Given the description of an element on the screen output the (x, y) to click on. 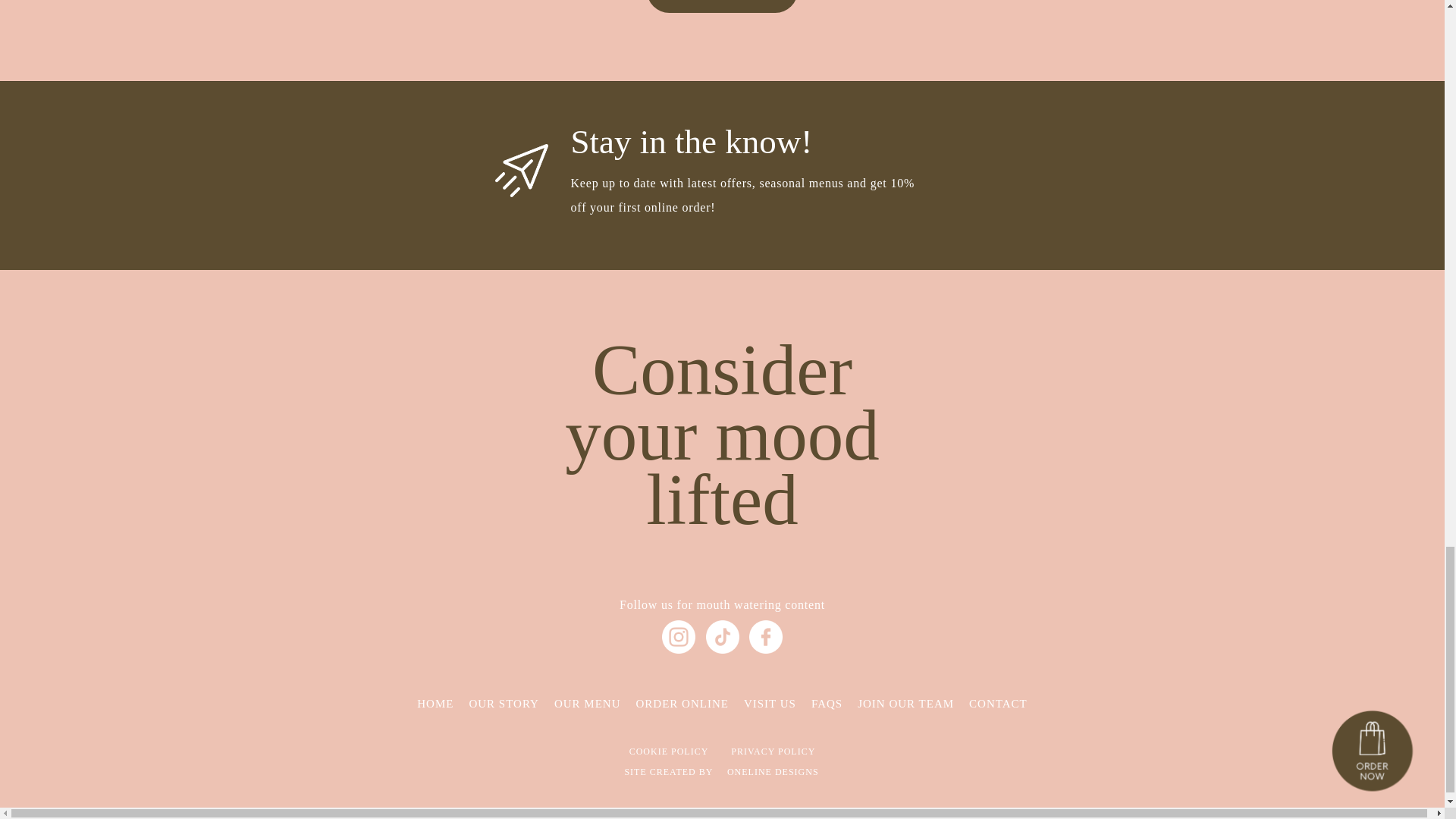
COOKIE POLICY (668, 751)
HOME (434, 703)
OUR MENU (587, 703)
JOIN OUR TEAM (905, 703)
VISIT US (770, 703)
FAQS (826, 703)
ORDER ONLINE (682, 703)
PRIVACY POLICY (772, 751)
CONTACT (998, 703)
ORDER NOW (721, 6)
